Given the description of an element on the screen output the (x, y) to click on. 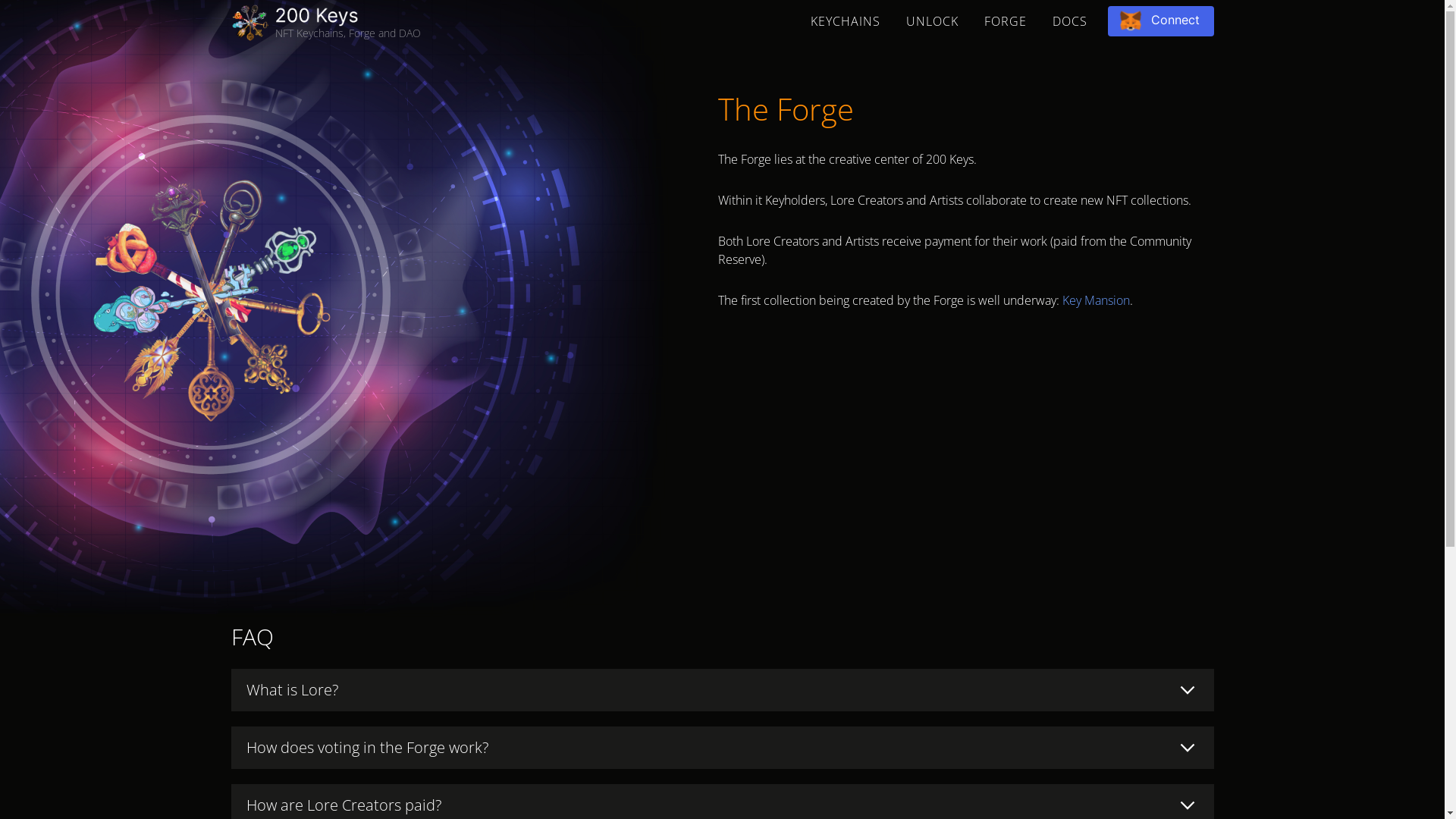
Key Mansion Element type: text (1095, 300)
KEYCHAINS Element type: text (845, 21)
UNLOCK Element type: text (932, 21)
FORGE Element type: text (1004, 21)
NFT Keychains, Forge and DAO Element type: text (321, 21)
How does voting in the Forge work? Element type: text (721, 747)
What is Lore? Element type: text (721, 689)
DOCS Element type: text (1068, 21)
